Given the description of an element on the screen output the (x, y) to click on. 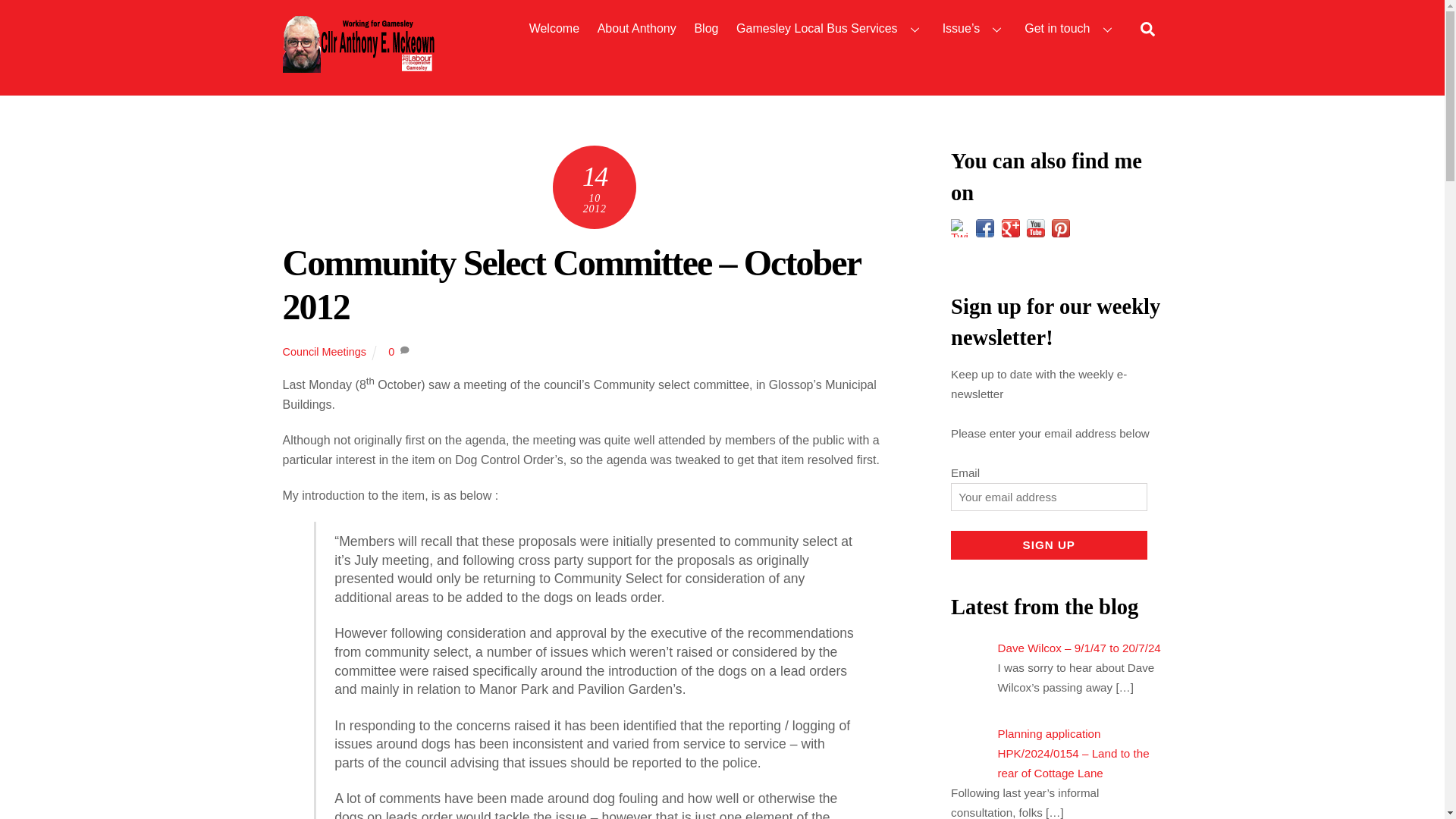
Welcome (553, 28)
Blog (706, 28)
Council Meetings (323, 351)
Get in touch (1070, 28)
Search (1146, 27)
Sign up (1048, 544)
0 (391, 351)
Gamesley Local Bus Services (830, 28)
About Anthony (635, 28)
Anthony Mckeowns Website (357, 65)
